Given the description of an element on the screen output the (x, y) to click on. 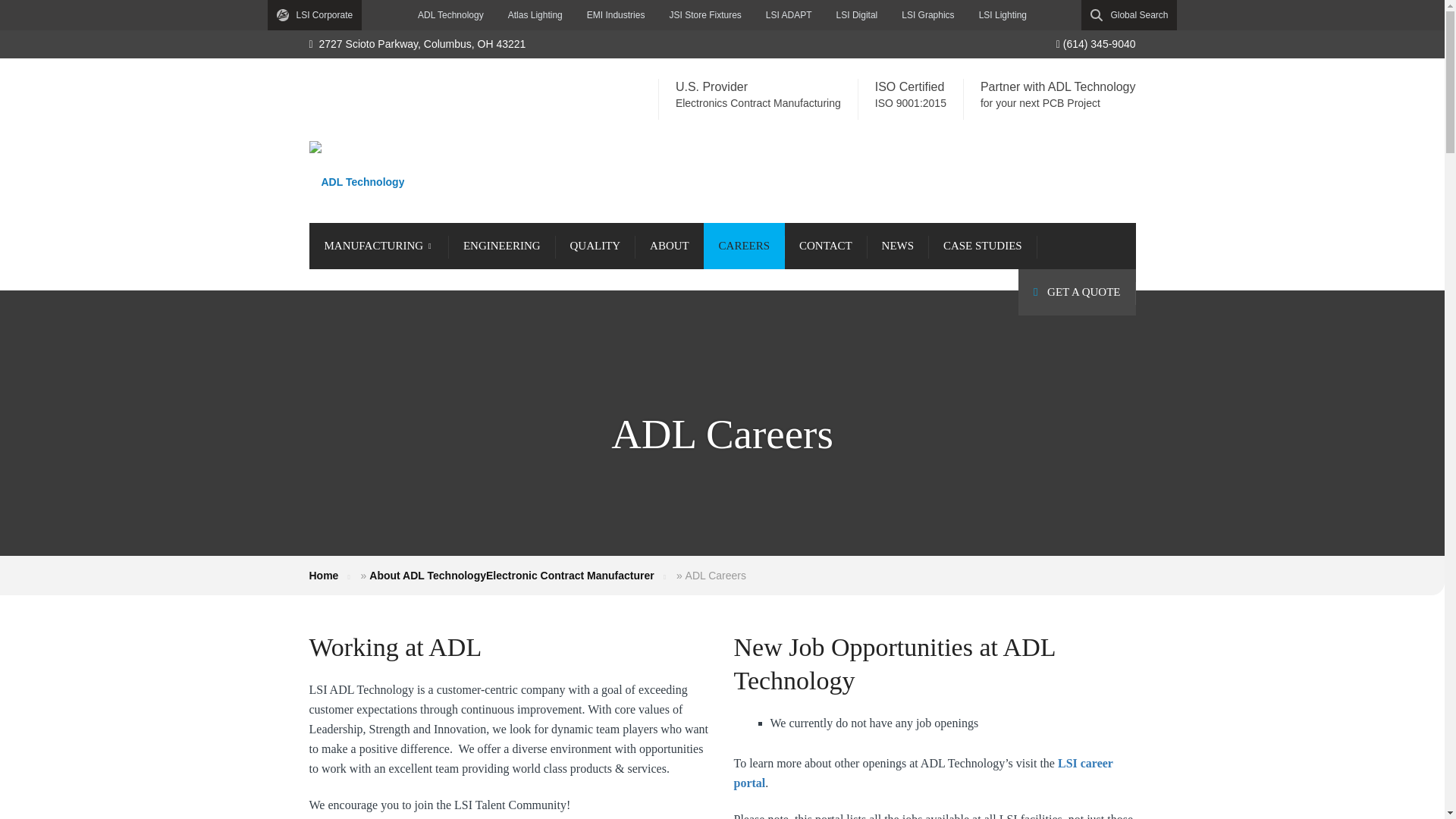
LSI Graphics (927, 15)
JSI Store Fixtures (704, 15)
CAREERS (744, 245)
Atlas Lighting (535, 15)
LSI Digital (856, 15)
ENGINEERING (502, 245)
NEWS (898, 245)
CASE STUDIES (982, 245)
ABOUT (669, 245)
Global Search (1128, 15)
